Given the description of an element on the screen output the (x, y) to click on. 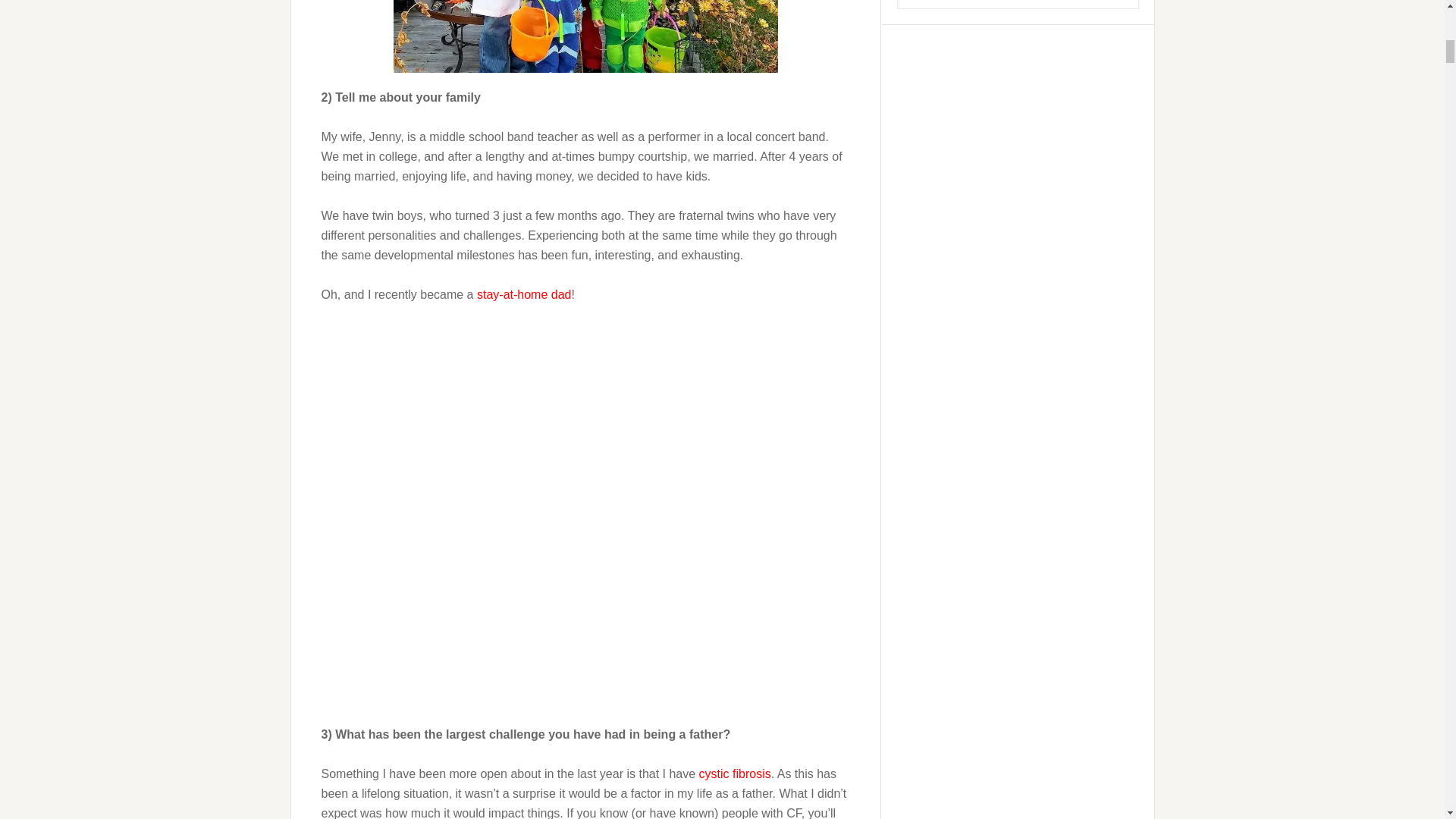
cystic fibrosis (734, 773)
stay-at-home dad (524, 294)
